Given the description of an element on the screen output the (x, y) to click on. 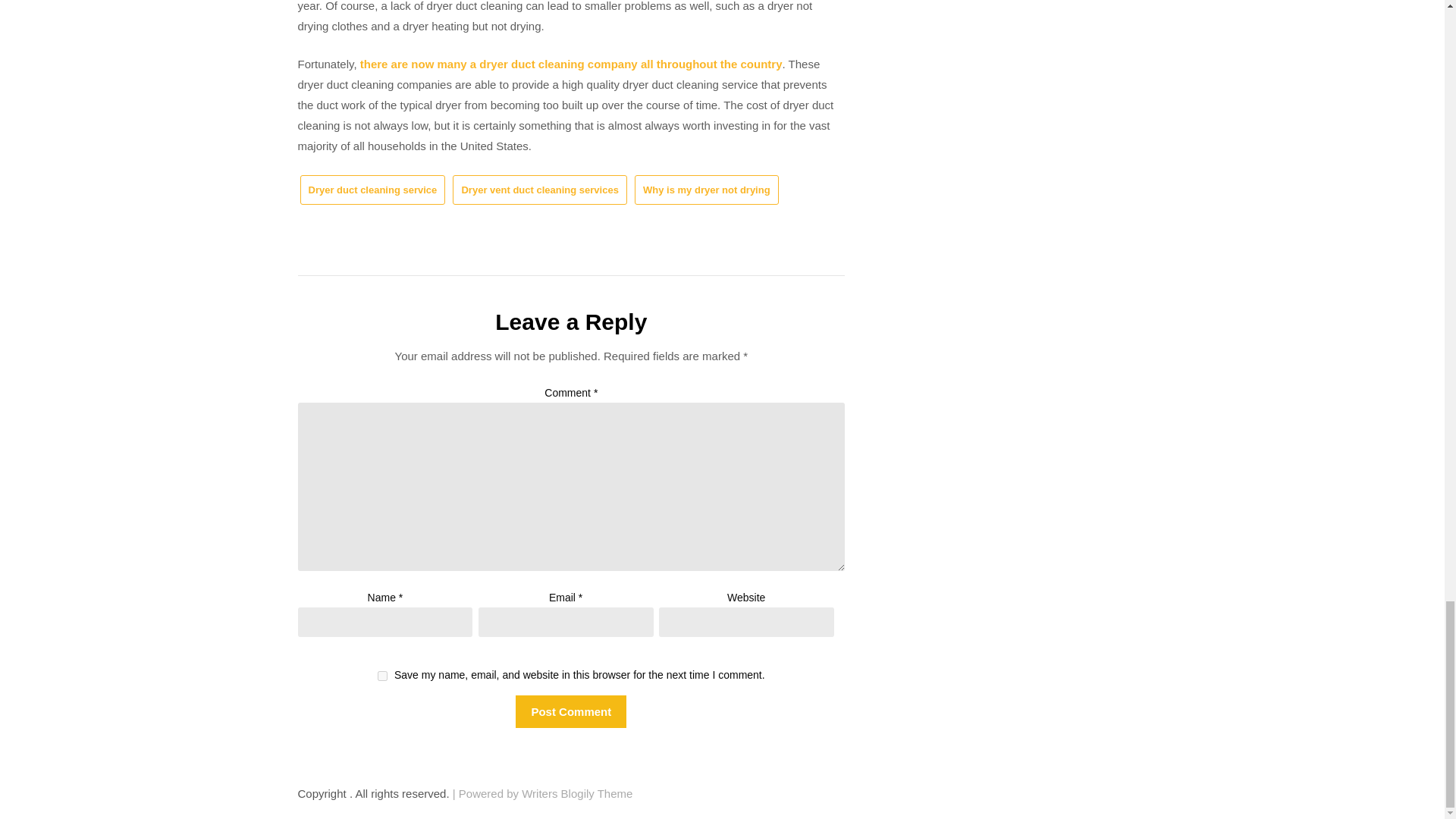
Writers Blogily Theme (576, 793)
more like this (571, 63)
Post Comment (570, 711)
Why is my dryer not drying (706, 189)
Dryer duct cleaning service (372, 189)
Dryer vent duct cleaning services (539, 189)
yes (382, 675)
Post Comment (570, 711)
